Given the description of an element on the screen output the (x, y) to click on. 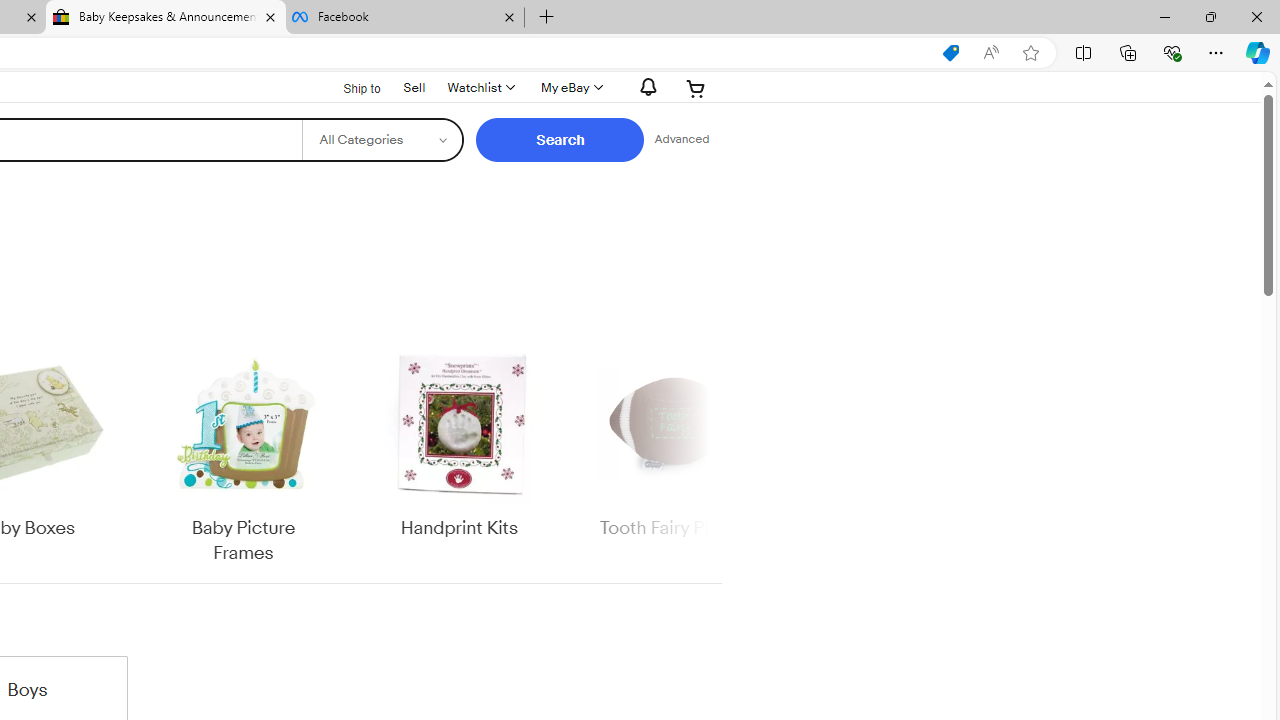
This site has coupons! Shopping in Microsoft Edge (950, 53)
Advanced Search (681, 139)
Handprint Kits (459, 443)
My eBayExpand My eBay (569, 88)
Watchlist (479, 88)
WatchlistExpand Watch List (479, 88)
